Given the description of an element on the screen output the (x, y) to click on. 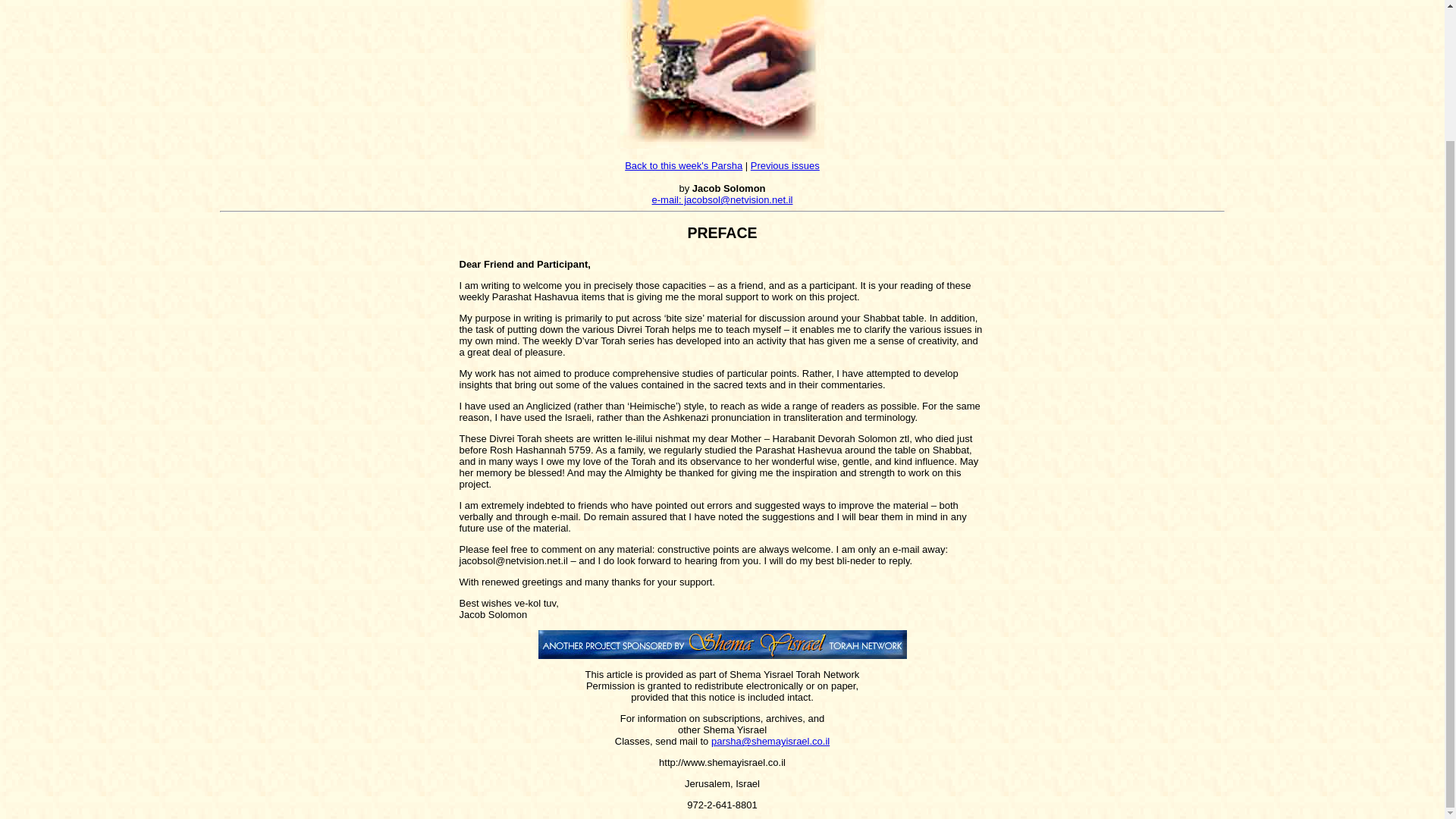
Back to this week's Parsha (683, 165)
Previous issues (785, 165)
